Given the description of an element on the screen output the (x, y) to click on. 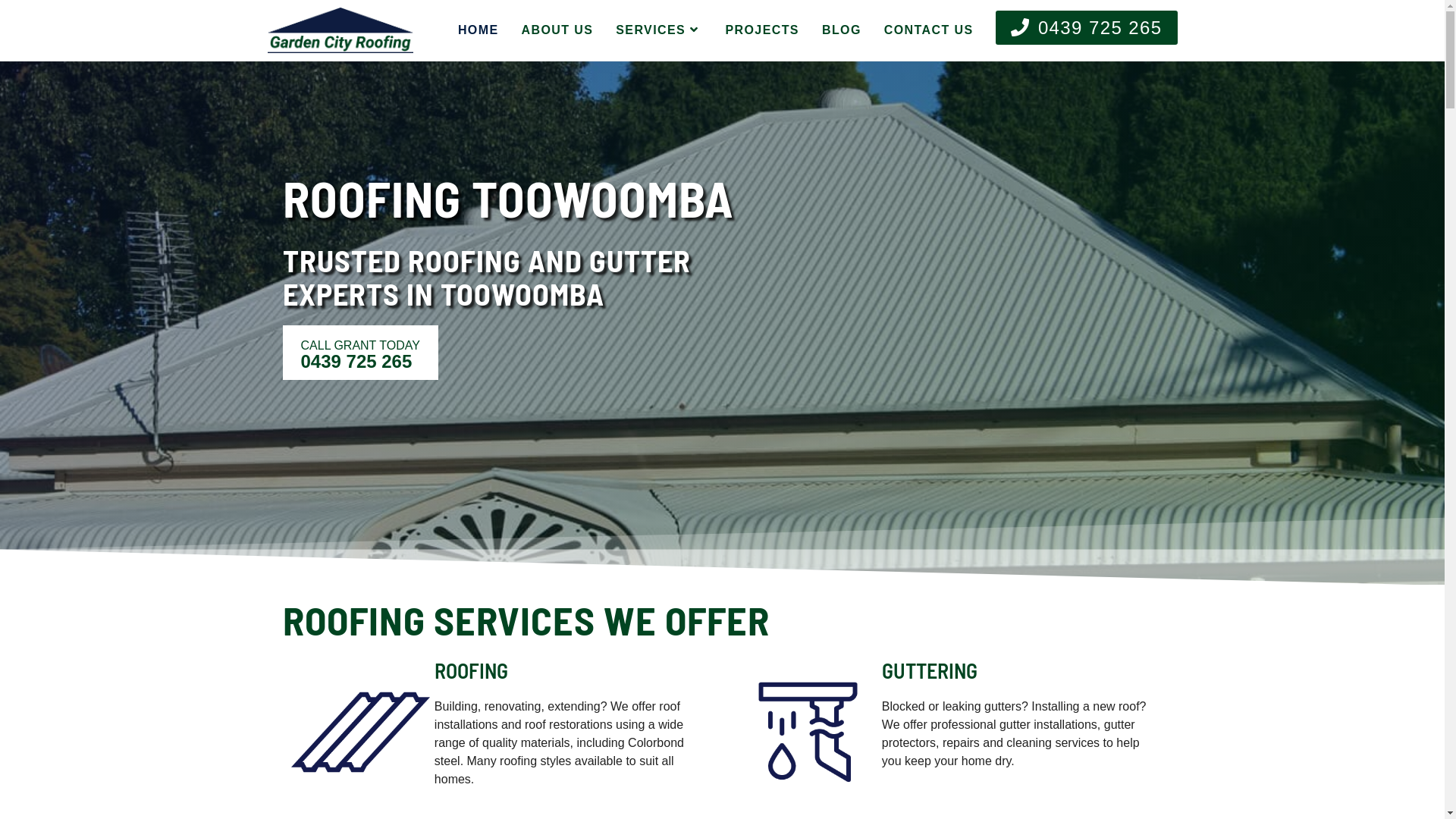
ABOUT US Element type: text (556, 30)
CONTACT US Element type: text (928, 30)
Roofing Element type: text (1030, 560)
Whirlybirds Element type: text (1030, 653)
SERVICES Element type: text (658, 30)
PROJECTS Element type: text (761, 30)
CALL GRANT TODAY
0439 725 265 Element type: text (359, 352)
Guttering Element type: text (1030, 591)
ROOFING Element type: text (471, 670)
HOME Element type: text (478, 30)
40 Mabel St, Toowoomba City QLD 4350 Element type: text (732, 570)
GUTTERING Element type: text (929, 670)
0439 725 265 Element type: text (1086, 30)
gardencityroofing@hotmail.com Element type: text (729, 703)
business.localsearch.com.au Element type: hover (1084, 793)
0439725265 Element type: text (667, 665)
Solar Lights Element type: text (1030, 622)
Asbestos Removal Element type: text (1030, 684)
BLOG Element type: text (841, 30)
